Given the description of an element on the screen output the (x, y) to click on. 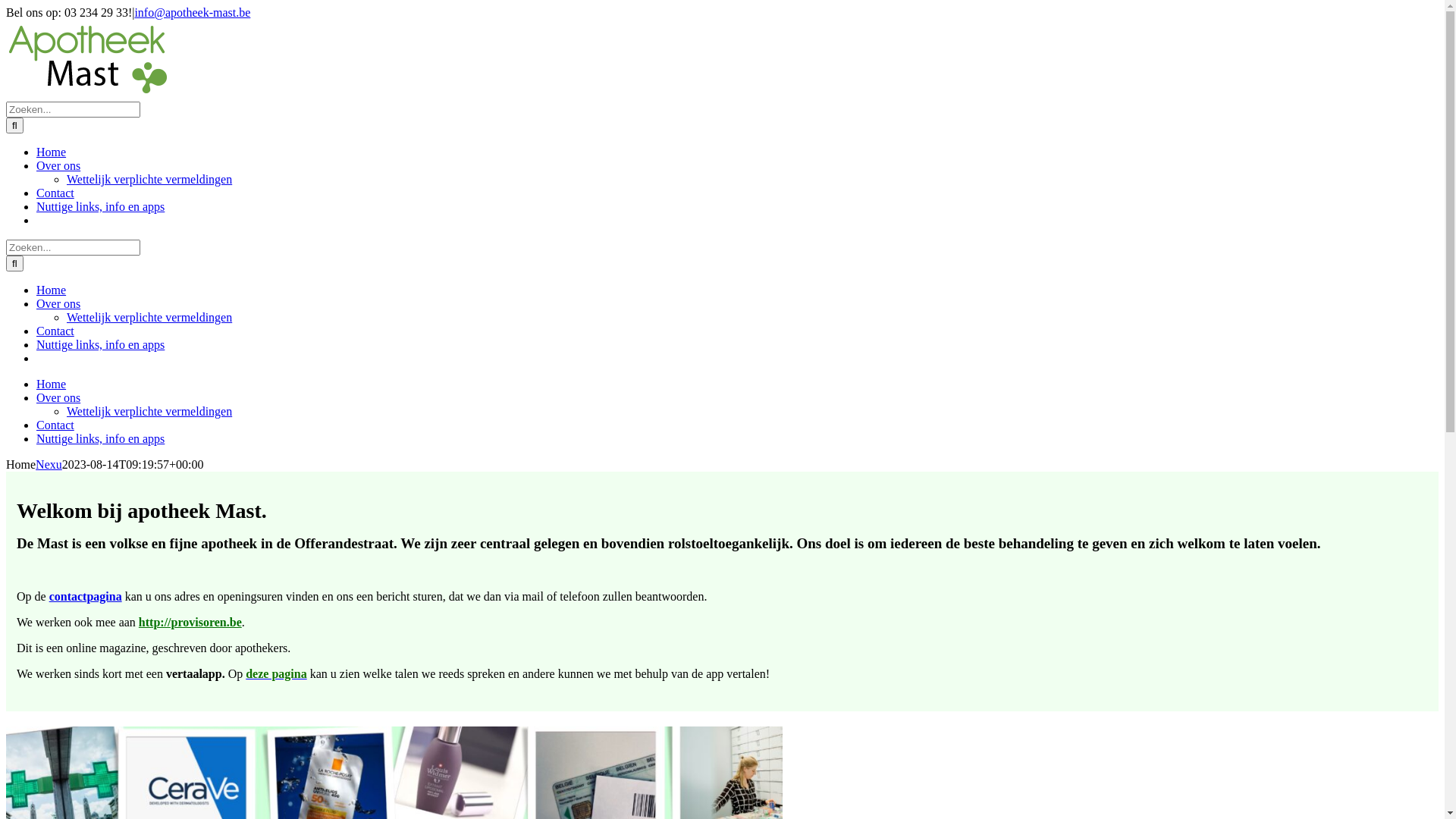
Contact Element type: text (55, 192)
Contact Element type: text (55, 424)
deze pagina Element type: text (275, 673)
Nuttige links, info en apps Element type: text (100, 344)
Over ons Element type: text (58, 165)
Wettelijk verplichte vermeldingen Element type: text (149, 410)
Nuttige links, info en apps Element type: text (100, 206)
Nexu Element type: text (48, 464)
Over ons Element type: text (58, 397)
Home Element type: text (50, 383)
Nuttige links, info en apps Element type: text (100, 438)
info@apotheek-mast.be Element type: text (192, 12)
contactpagina Element type: text (85, 595)
http://provisoren.be Element type: text (189, 621)
Home Element type: text (50, 289)
Over ons Element type: text (58, 303)
Home Element type: text (50, 151)
Ga naar inhoud Element type: text (5, 5)
Wettelijk verplichte vermeldingen Element type: text (149, 316)
Contact Element type: text (55, 330)
Wettelijk verplichte vermeldingen Element type: text (149, 178)
